Given the description of an element on the screen output the (x, y) to click on. 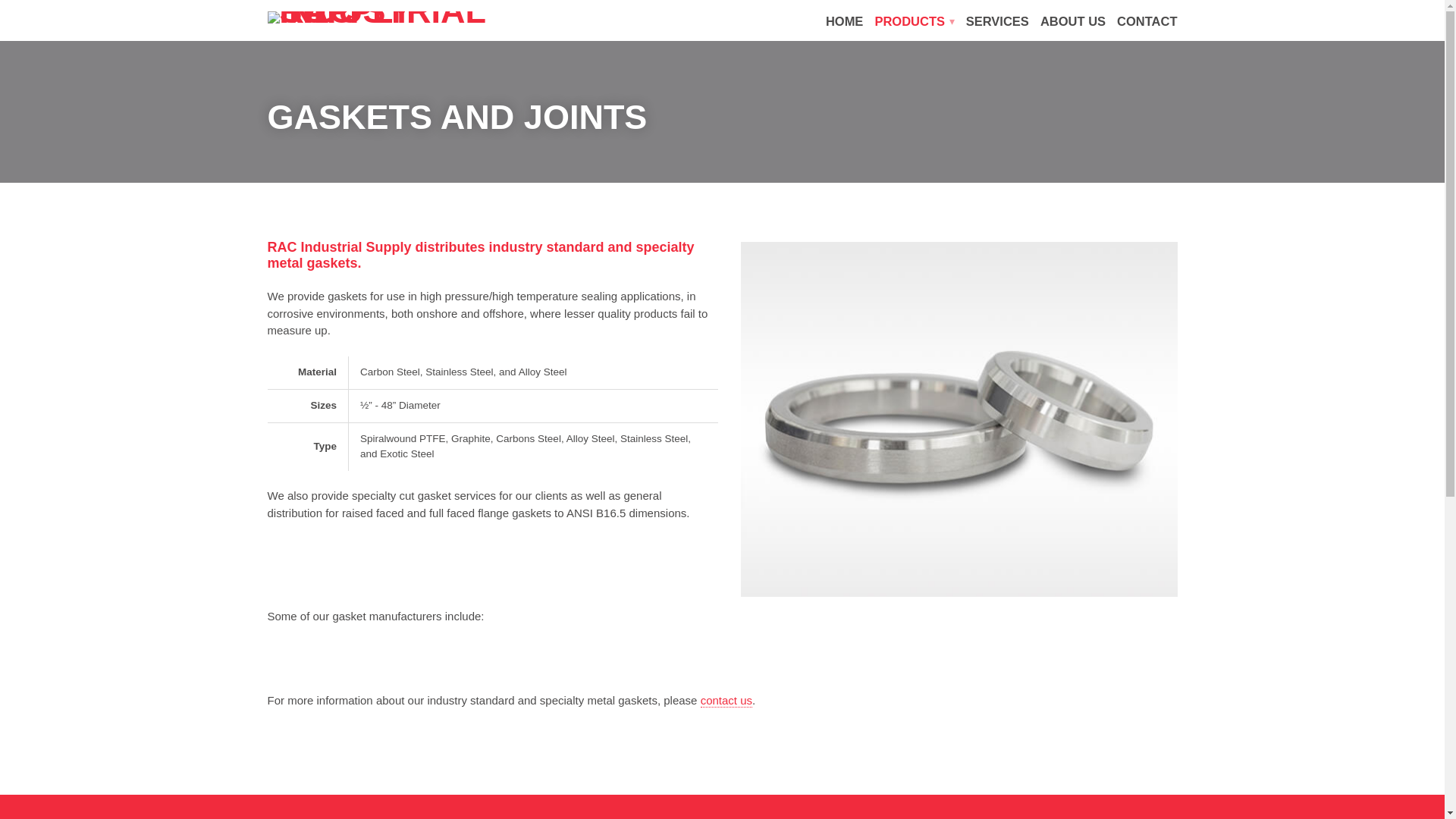
contact us (726, 700)
RAC Industrial Supply (380, 15)
PRODUCTS (914, 21)
ABOUT US (1073, 21)
CONTACT (1146, 21)
HOME (844, 21)
SERVICES (997, 21)
